Given the description of an element on the screen output the (x, y) to click on. 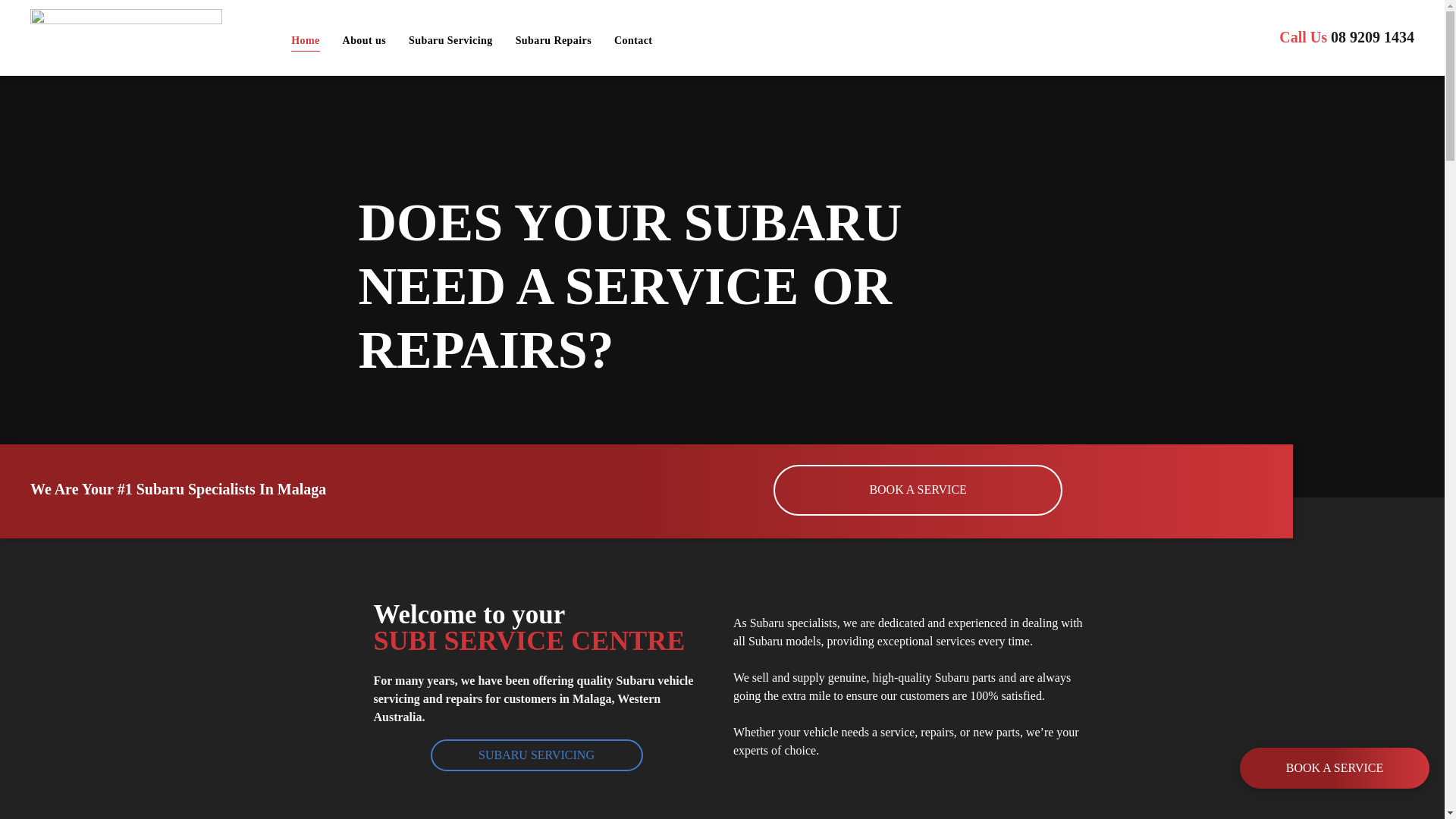
Home Element type: text (304, 39)
About us Element type: text (364, 39)
Contact Element type: text (632, 39)
SUBARU SERVICING Element type: text (536, 755)
Subaru Servicing Element type: text (450, 39)
Subaru Repairs Element type: text (553, 39)
BOOK A SERVICE Element type: text (917, 489)
08 9209 1434 Element type: text (1372, 36)
BOOK A SERVICE Element type: text (1334, 767)
Call Us Element type: text (1303, 36)
